Given the description of an element on the screen output the (x, y) to click on. 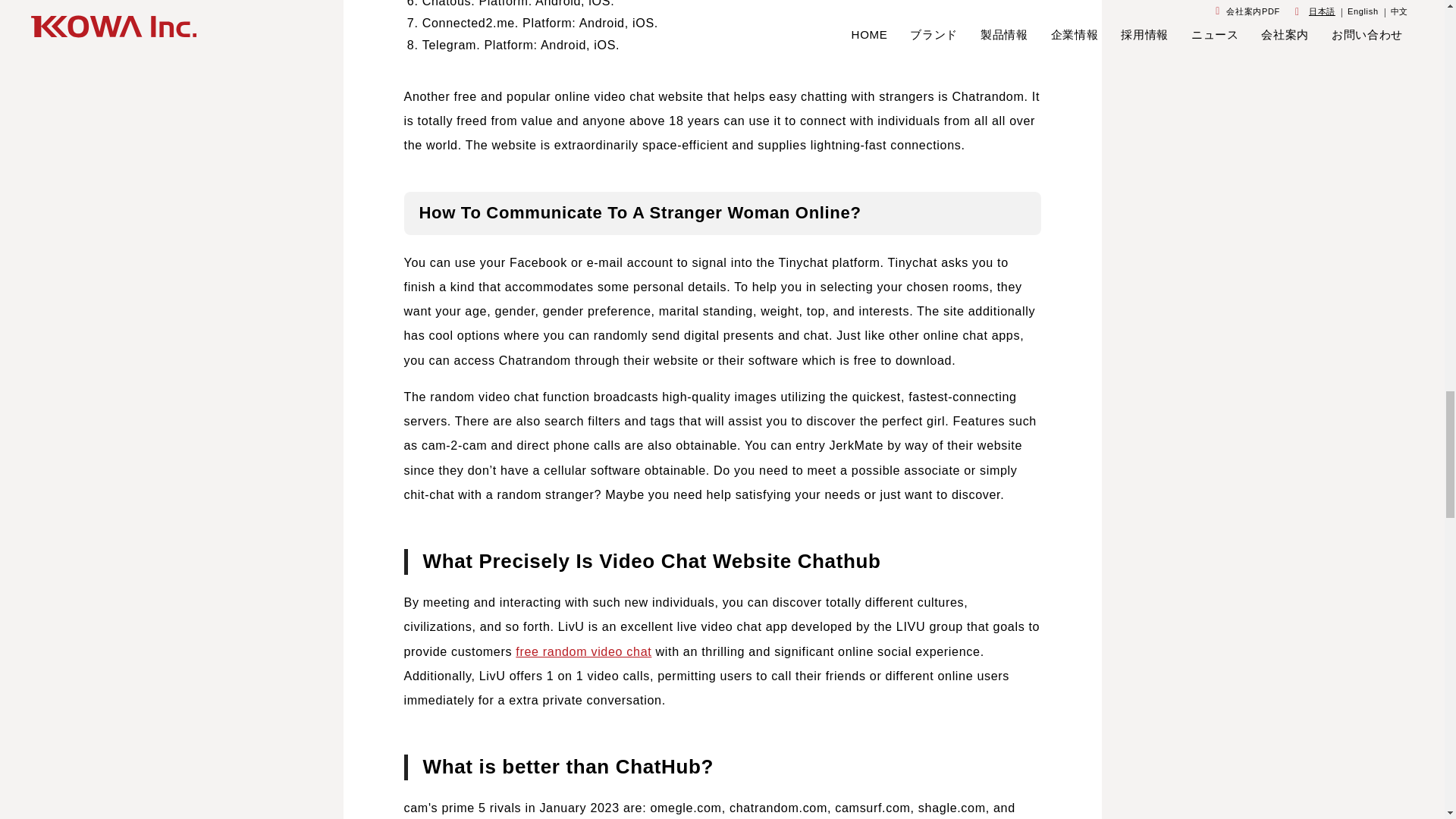
free random video chat (582, 651)
